Given the description of an element on the screen output the (x, y) to click on. 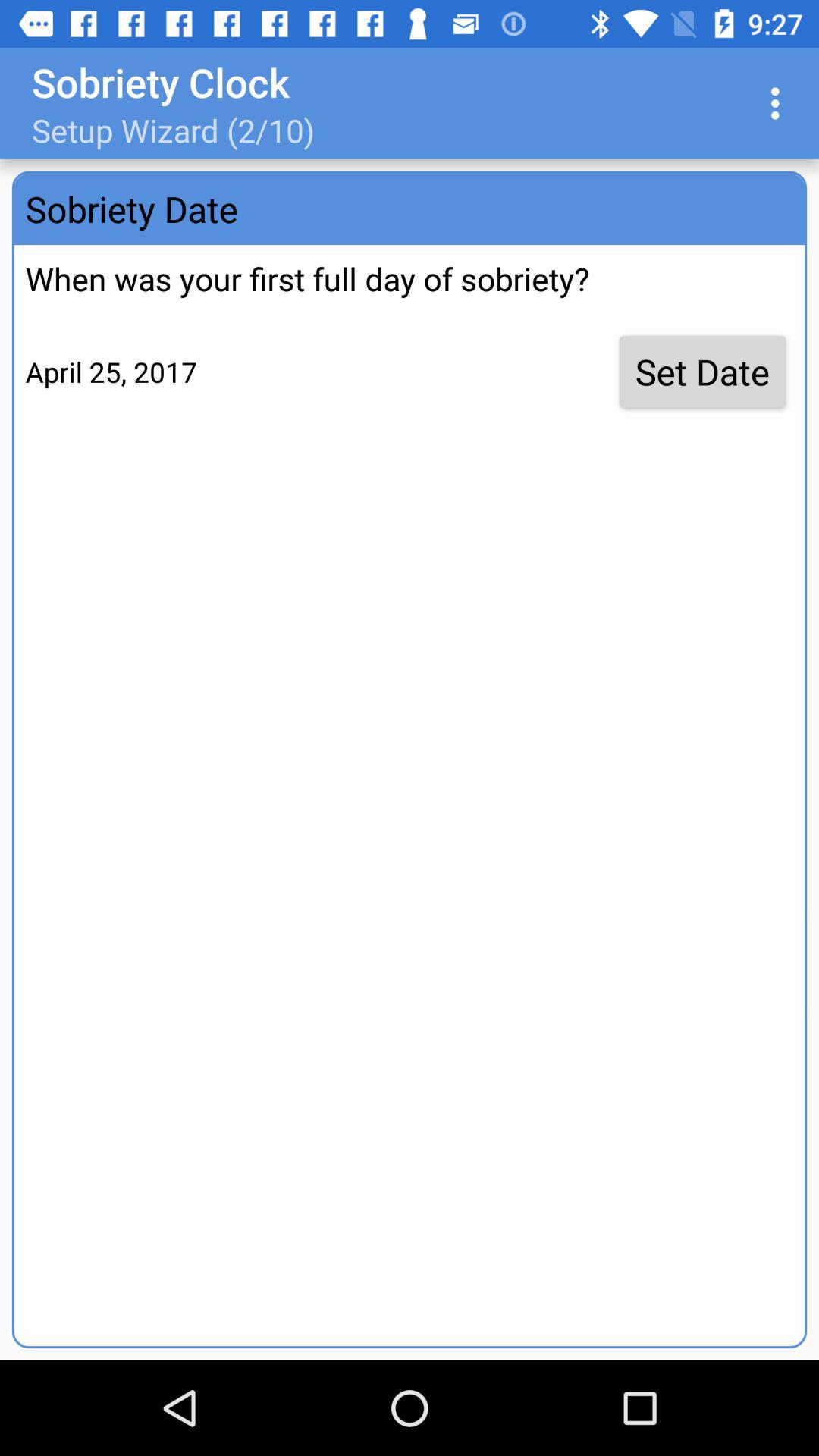
click the icon next to april 25, 2017 (702, 371)
